Given the description of an element on the screen output the (x, y) to click on. 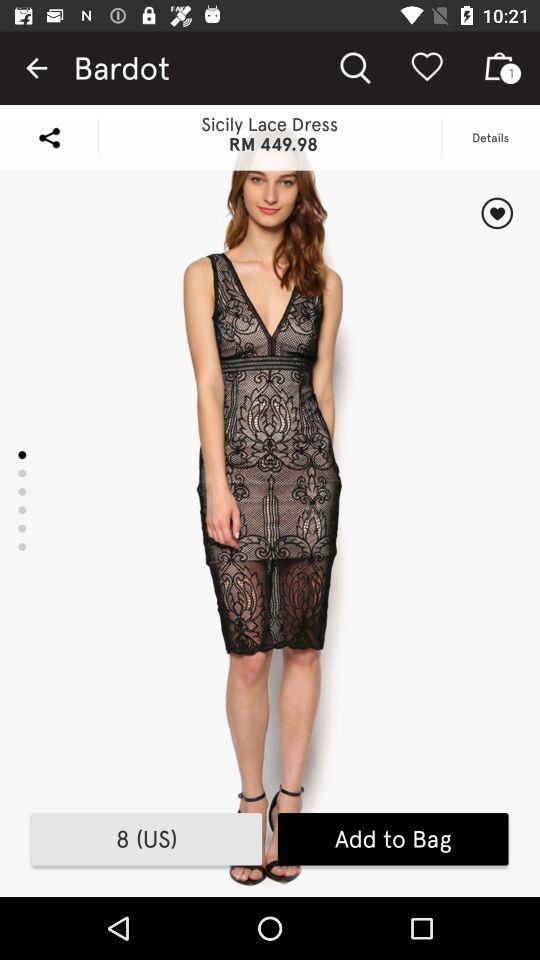
like (496, 213)
